Given the description of an element on the screen output the (x, y) to click on. 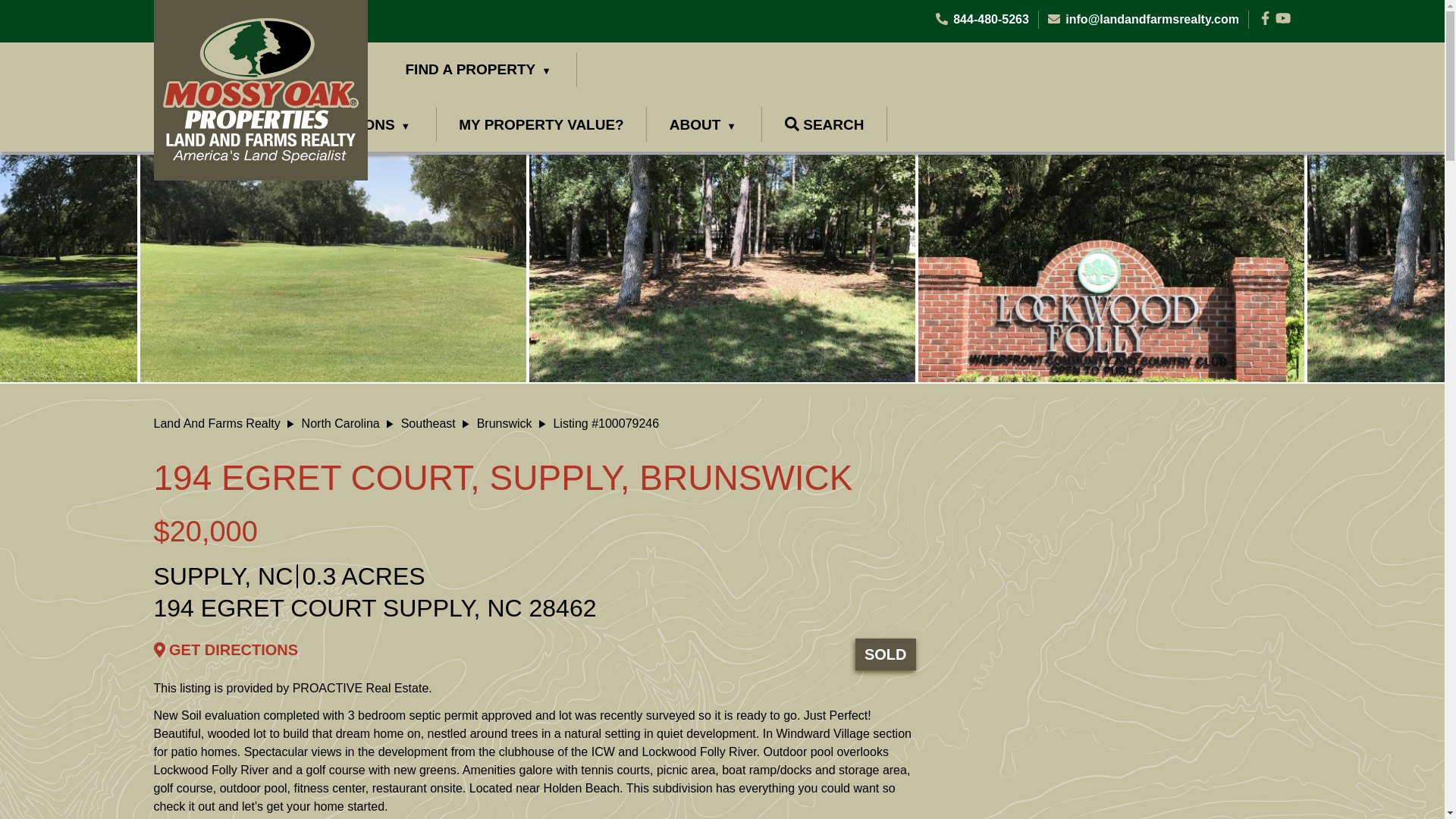
Greens (332, 267)
FIND A PROPERTY (479, 69)
 844-480-5263 (982, 18)
Entrance to Development (1111, 267)
View of Lot (722, 267)
